Given the description of an element on the screen output the (x, y) to click on. 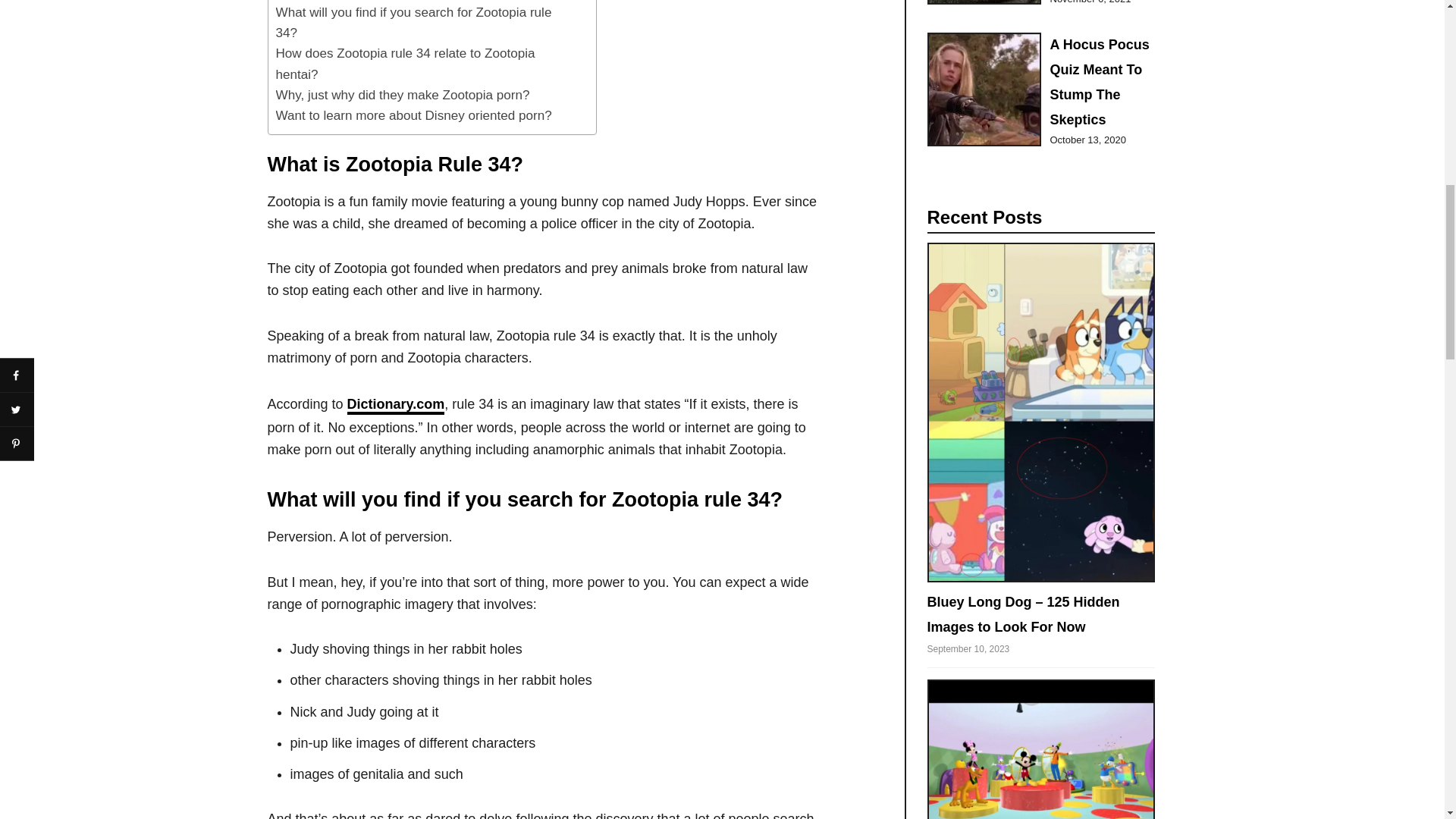
Dictionary.com (396, 405)
What will you find if you search for Zootopia rule 34? (417, 23)
What will you find if you search for Zootopia rule 34? (417, 23)
Want to learn more about Disney oriented porn? (413, 115)
Why, just why did they make Zootopia porn? (402, 95)
How does Zootopia rule 34 relate to Zootopia hentai? (417, 64)
How does Zootopia rule 34 relate to Zootopia hentai? (417, 64)
Want to learn more about Disney oriented porn? (413, 115)
Why, just why did they make Zootopia porn? (402, 95)
